Given the description of an element on the screen output the (x, y) to click on. 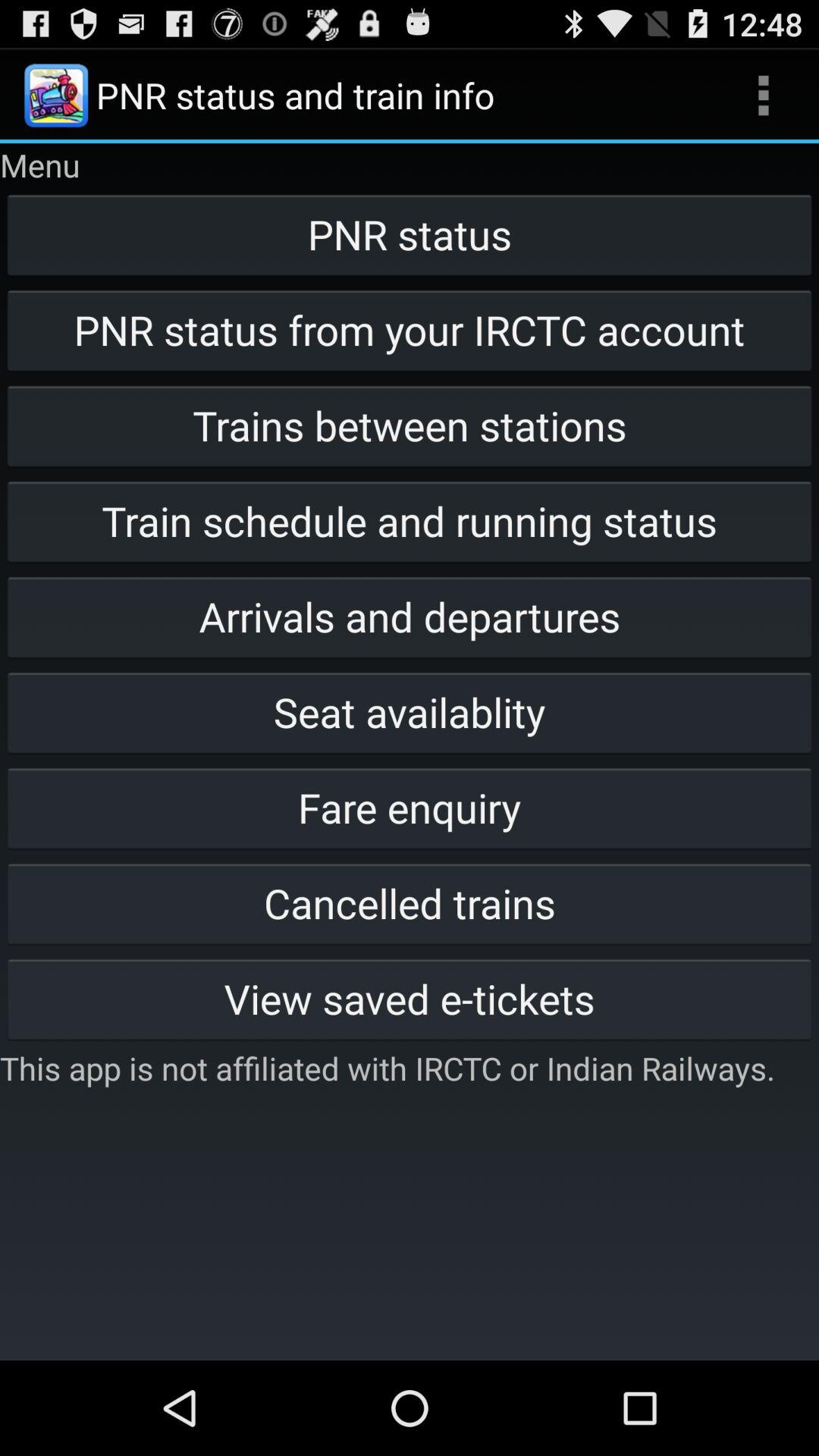
launch the item at the top right corner (763, 95)
